Given the description of an element on the screen output the (x, y) to click on. 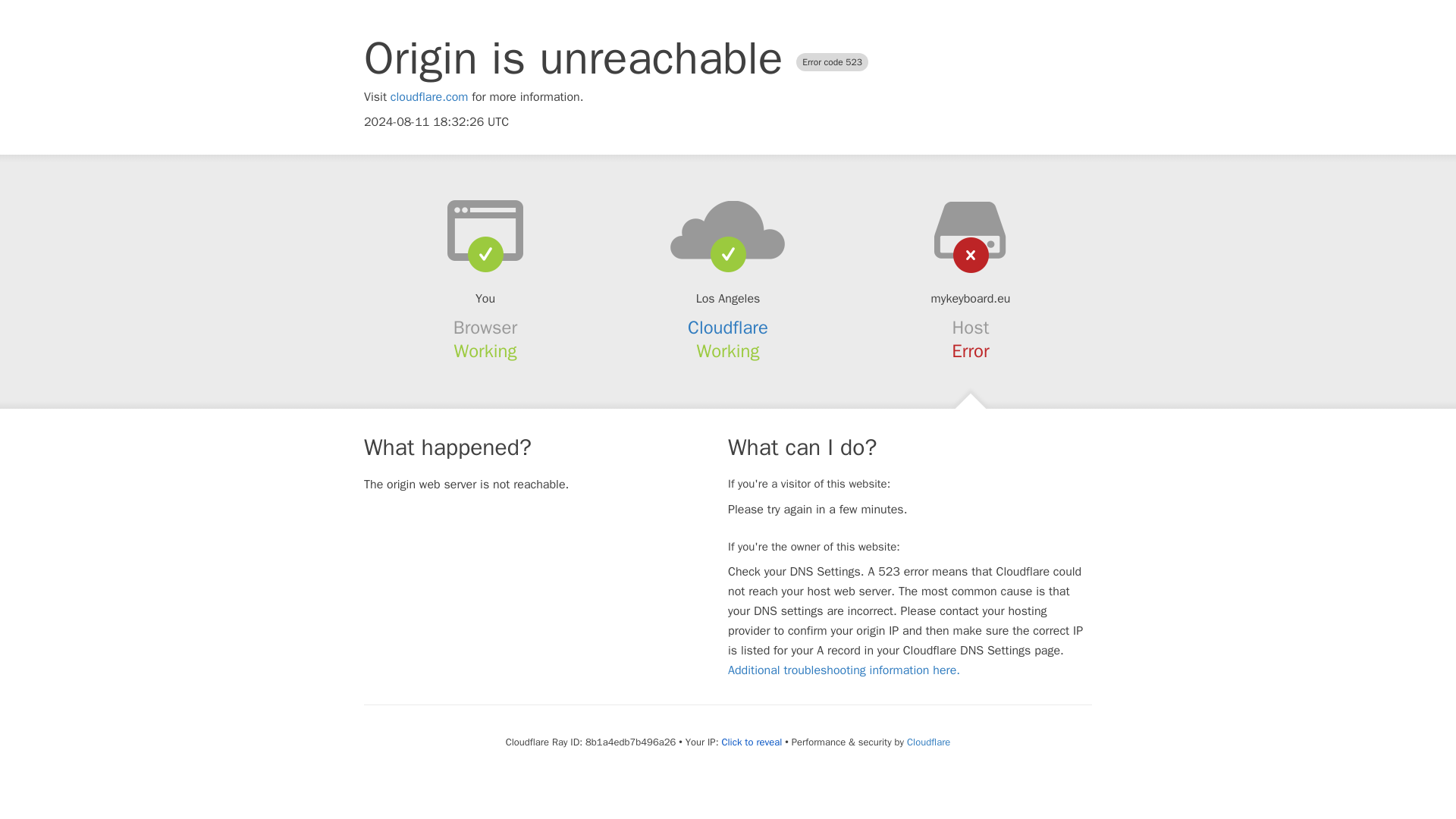
Additional troubleshooting information here. (843, 670)
Cloudflare (727, 327)
Click to reveal (750, 742)
cloudflare.com (429, 96)
Cloudflare (928, 741)
